Given the description of an element on the screen output the (x, y) to click on. 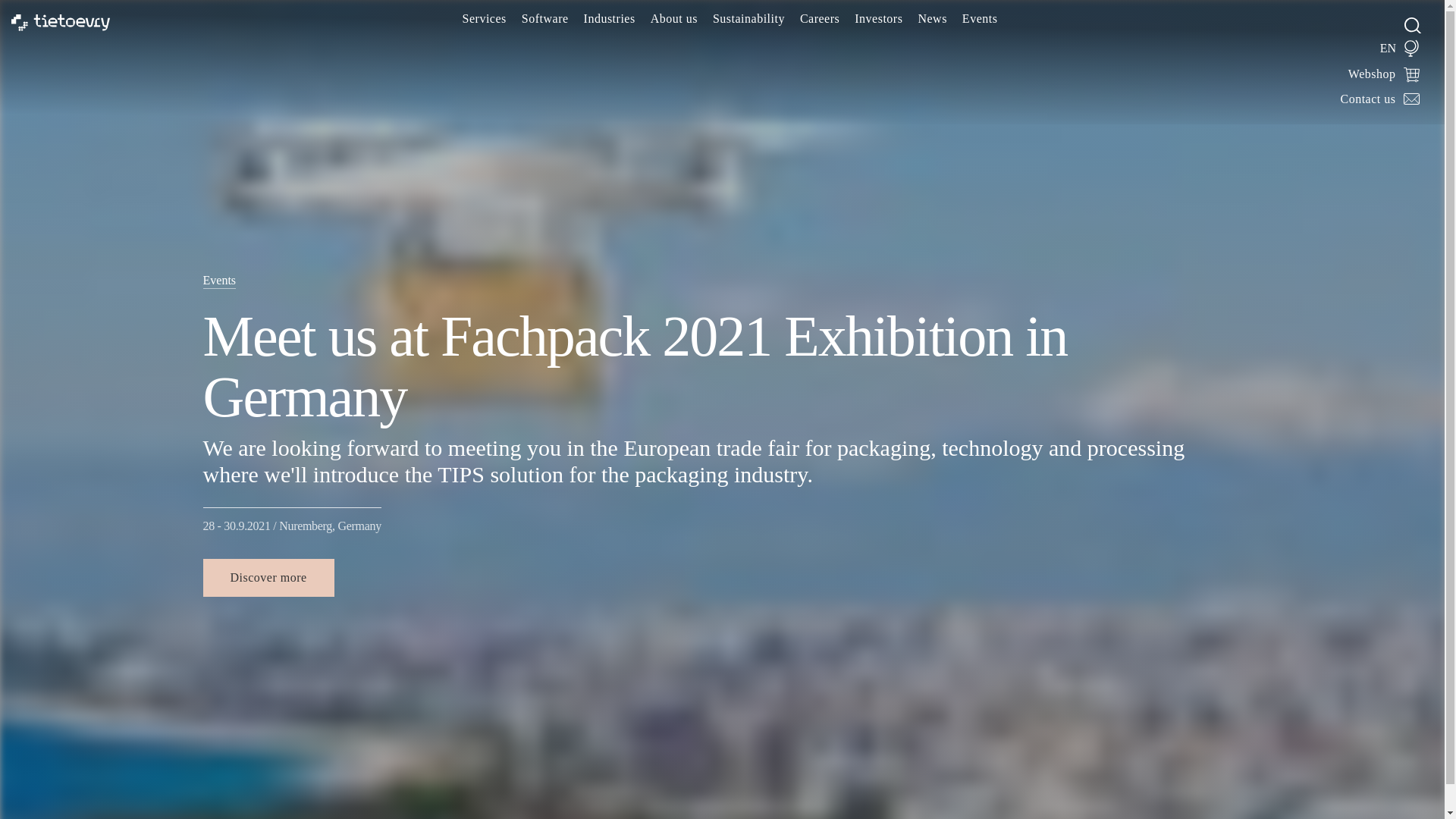
Webshop (1384, 72)
Home (60, 22)
Services (483, 19)
Contact us (1380, 97)
Home (60, 21)
Home (60, 21)
